Given the description of an element on the screen output the (x, y) to click on. 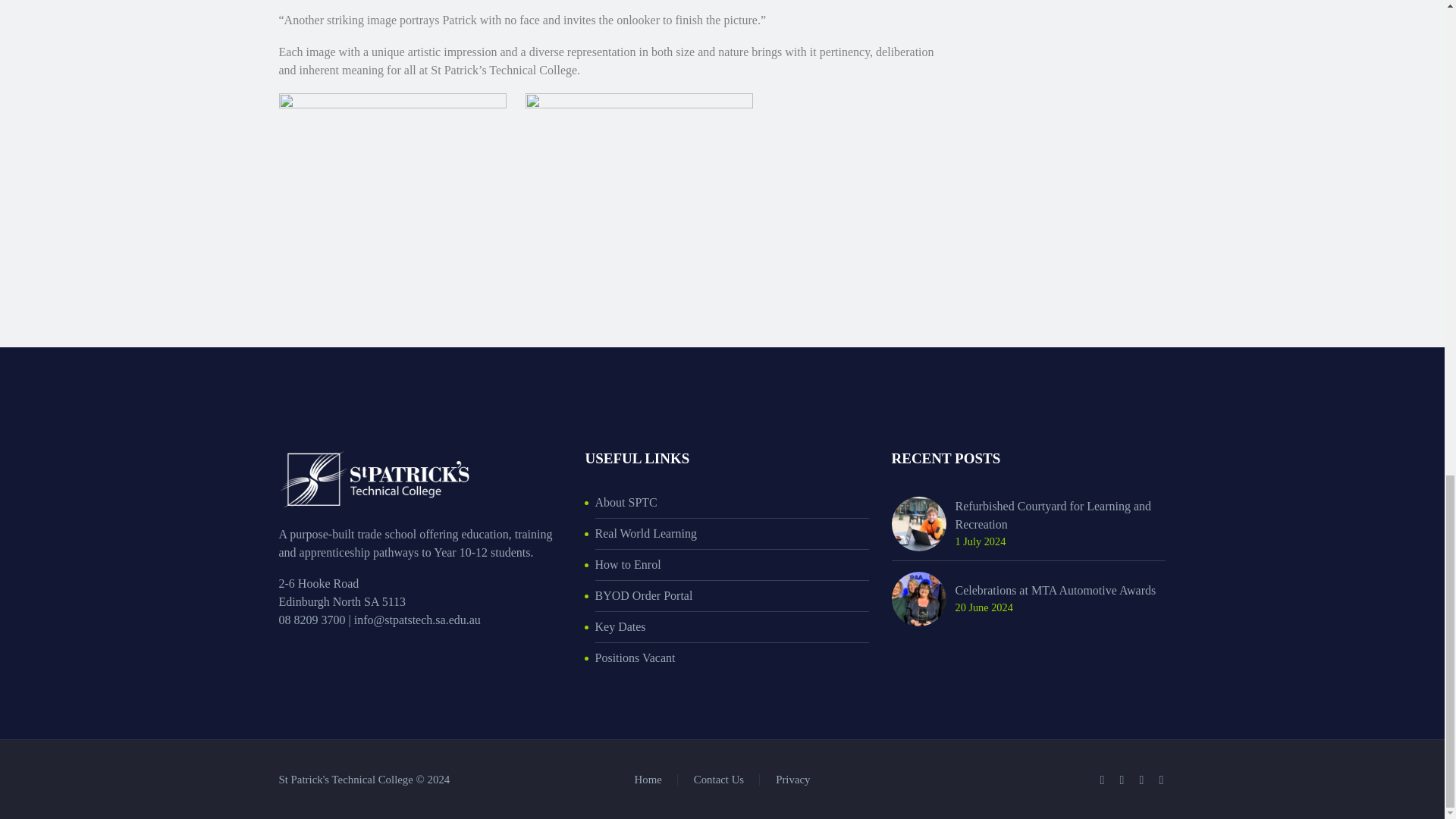
Instagram (1141, 779)
YouTube (1161, 779)
LinkedIn (1122, 779)
Facebook (1102, 779)
